Given the description of an element on the screen output the (x, y) to click on. 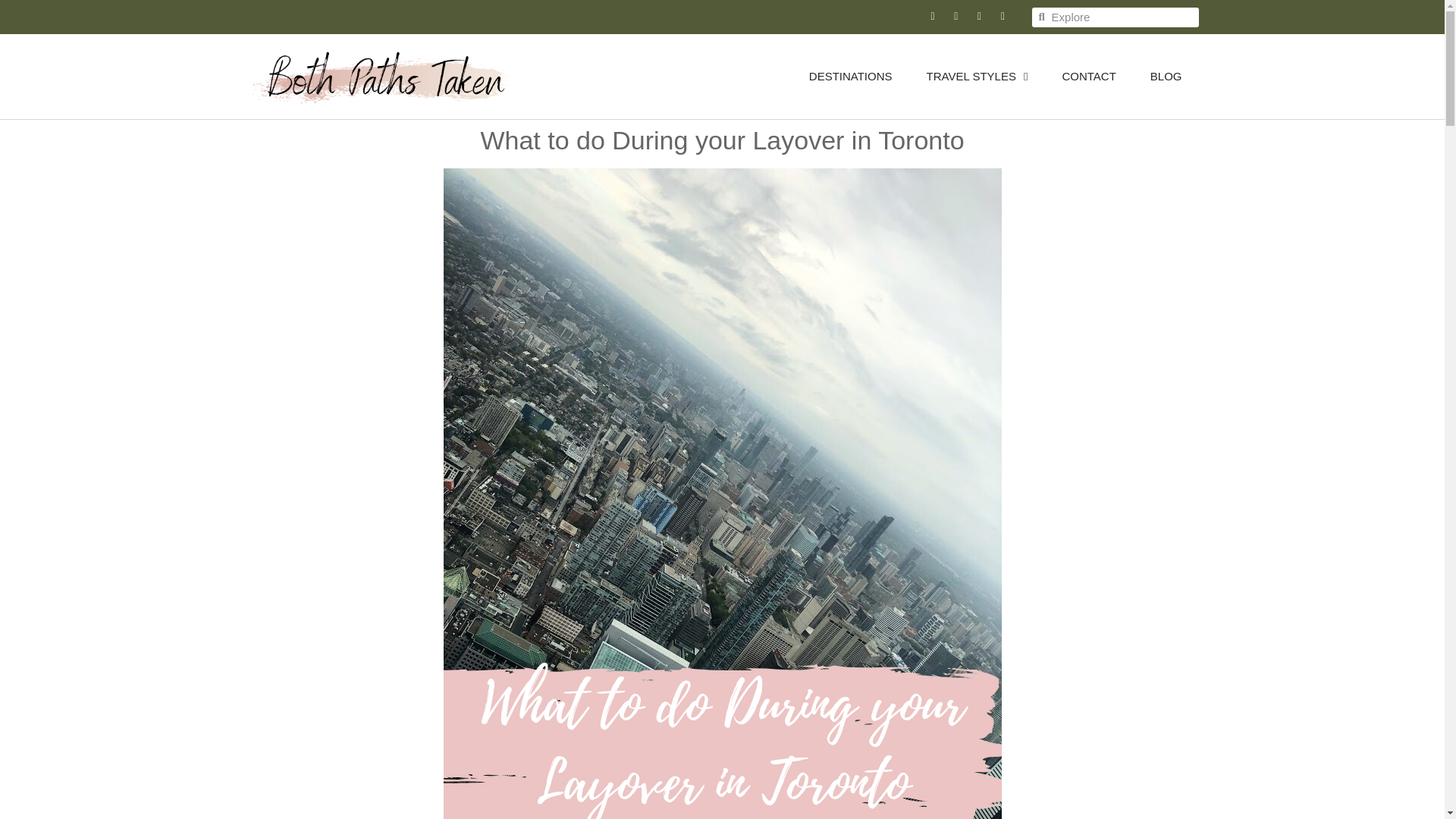
DESTINATIONS (850, 76)
TRAVEL STYLES (977, 76)
CONTACT (1087, 76)
